Given the description of an element on the screen output the (x, y) to click on. 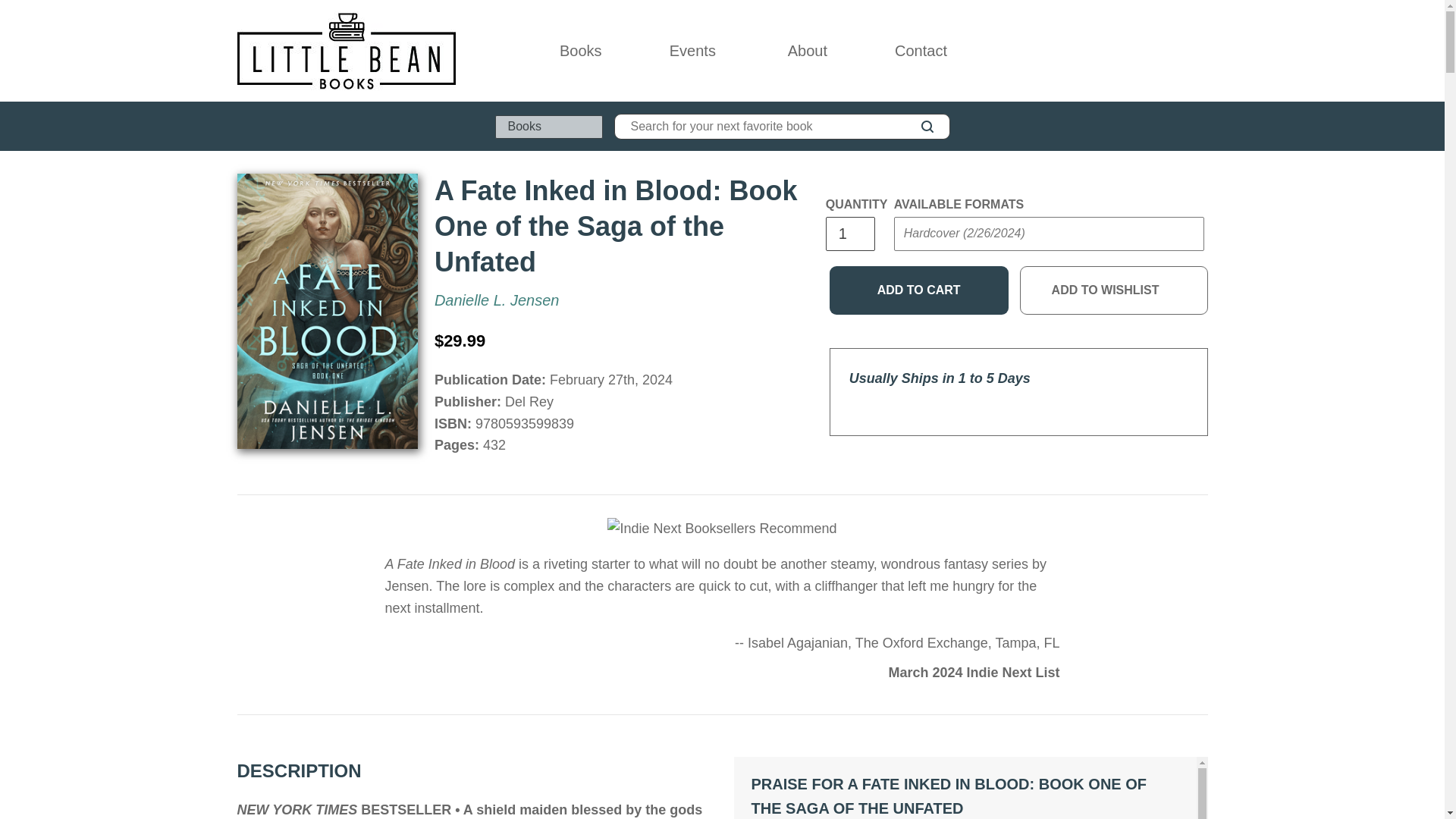
Add to cart (919, 290)
Add to cart (919, 290)
Wishlists (1168, 50)
Books (580, 50)
Cart (1201, 50)
Submit (922, 264)
Contact (920, 50)
Log in (1134, 50)
Cart (1201, 50)
